Given the description of an element on the screen output the (x, y) to click on. 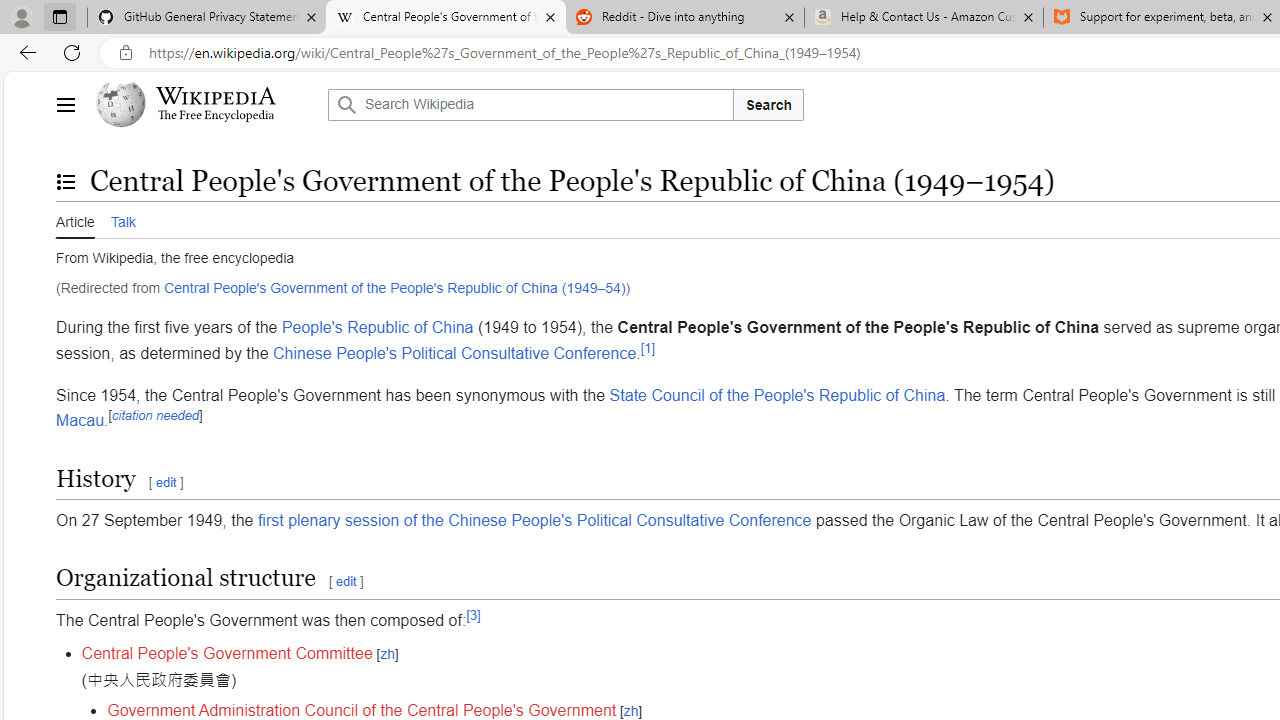
Article (75, 219)
citation needed (155, 414)
People's Republic of China (377, 327)
Talk (122, 219)
State Council of the People's Republic of China (777, 394)
Talk (122, 219)
The Free Encyclopedia (216, 116)
Wikipedia The Free Encyclopedia (206, 104)
[3] (473, 614)
Search Wikipedia (530, 104)
